Given the description of an element on the screen output the (x, y) to click on. 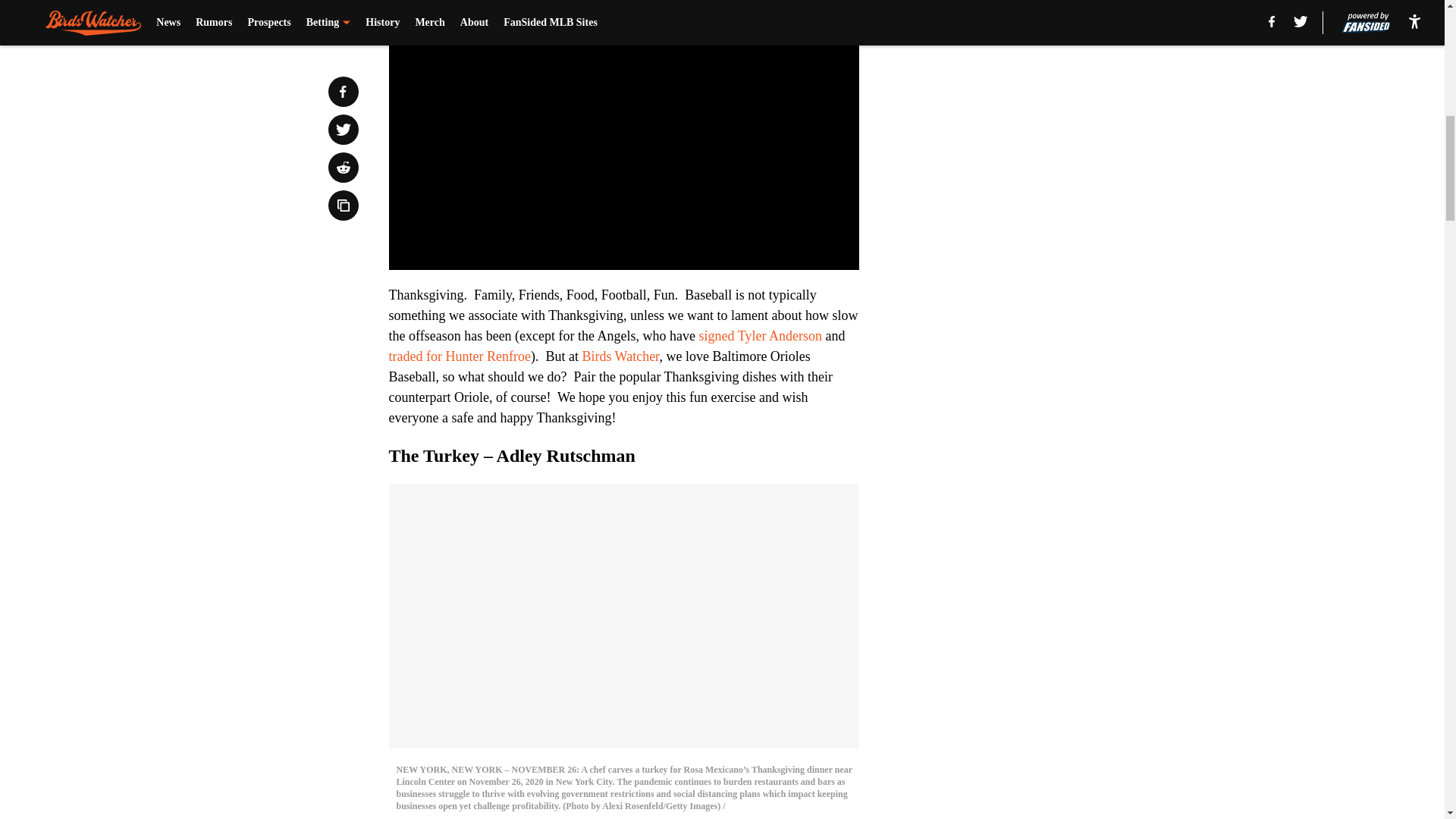
Birds Watcher (619, 355)
traded for Hunter Renfroe (458, 355)
signed Tyler Anderson (760, 335)
